Given the description of an element on the screen output the (x, y) to click on. 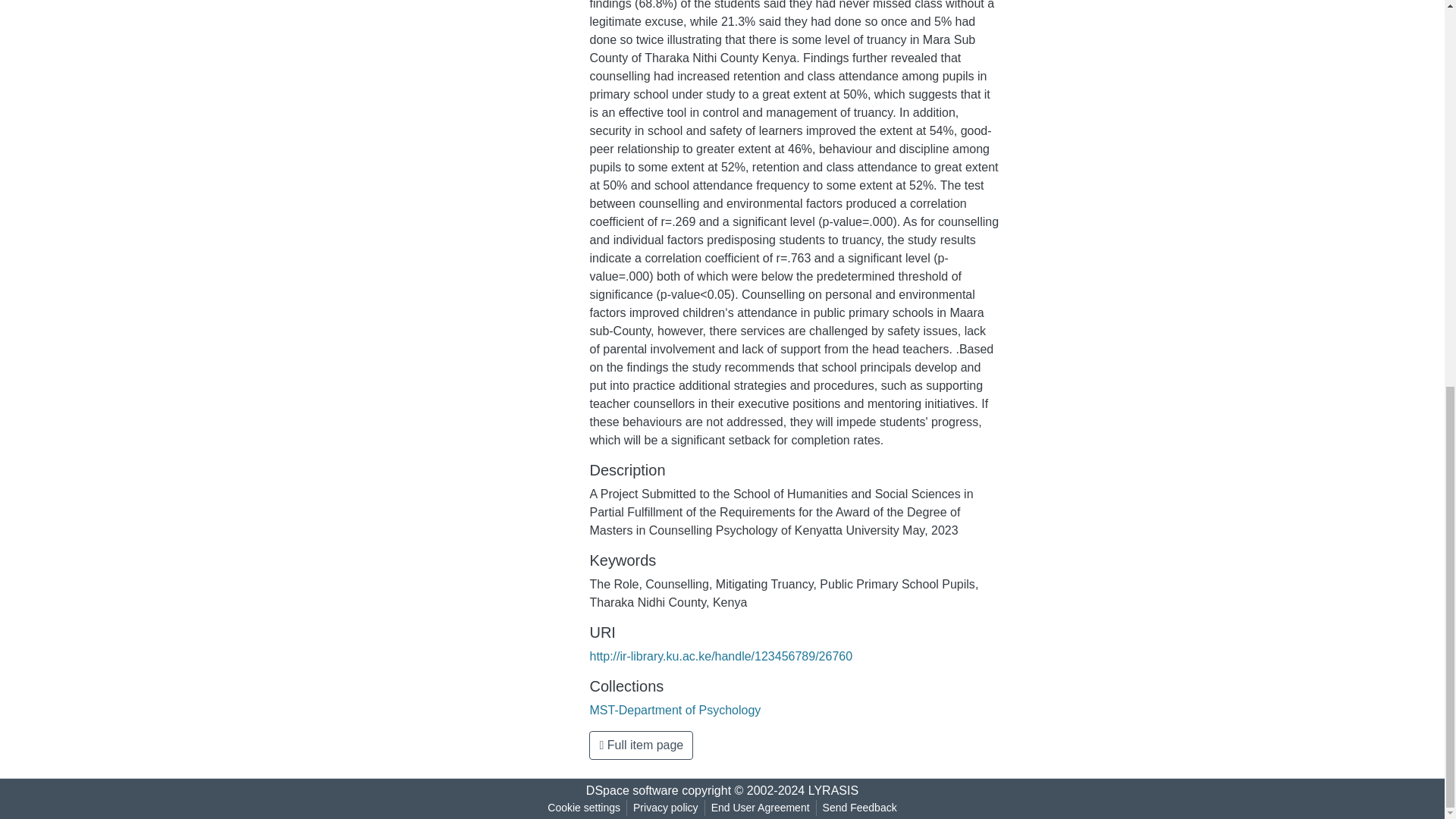
DSpace software (632, 789)
End User Agreement (759, 807)
MST-Department of Psychology (674, 709)
Send Feedback (859, 807)
Cookie settings (583, 807)
Privacy policy (665, 807)
LYRASIS (833, 789)
Full item page (641, 745)
